Given the description of an element on the screen output the (x, y) to click on. 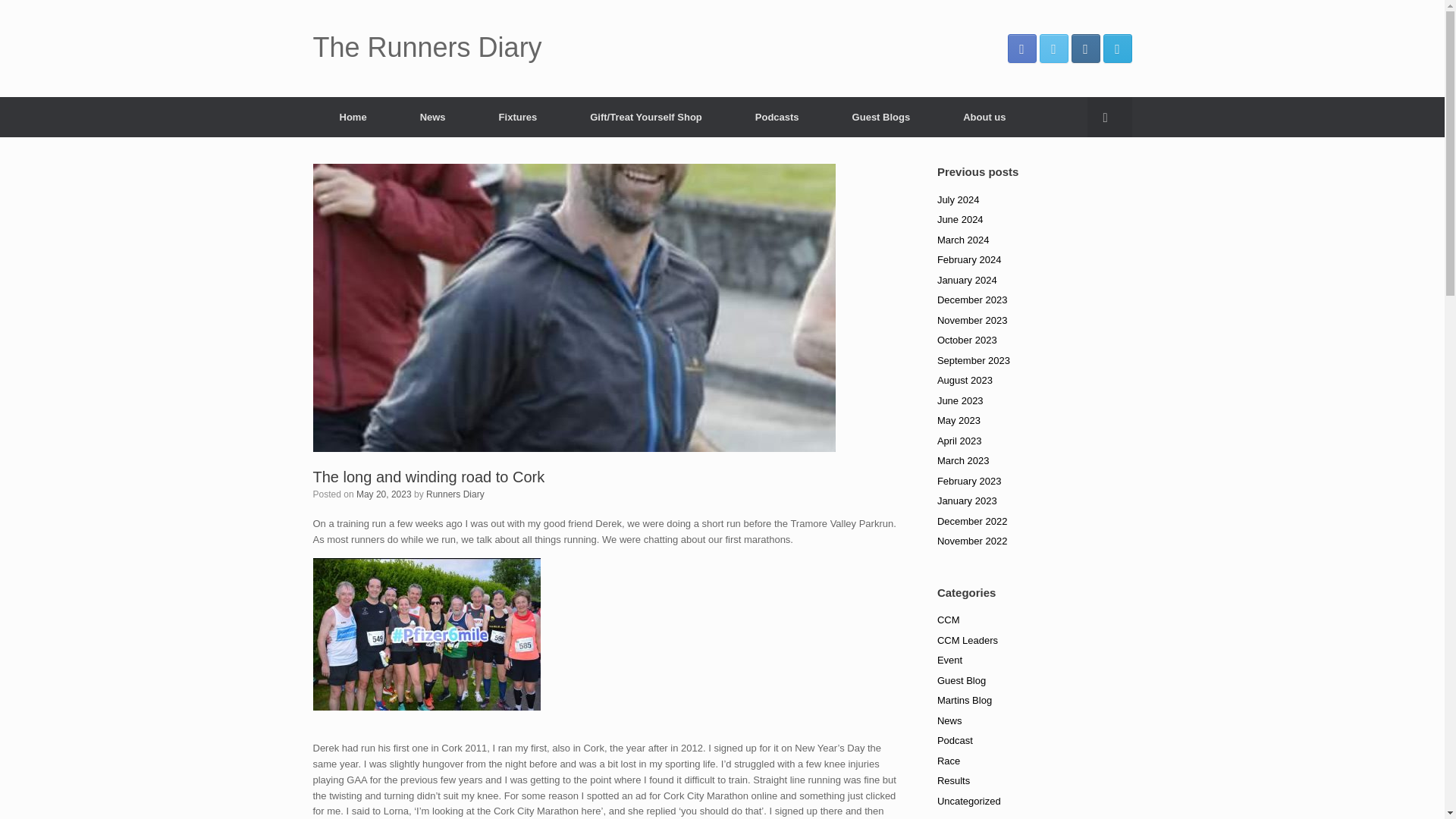
December 2023 (972, 299)
October 2023 (967, 339)
About us (984, 117)
January 2024 (967, 279)
Guest Blogs (881, 117)
December 2022 (972, 521)
News (432, 117)
Runners Diary (455, 493)
The Runners Diary (427, 47)
Fixtures (517, 117)
